Given the description of an element on the screen output the (x, y) to click on. 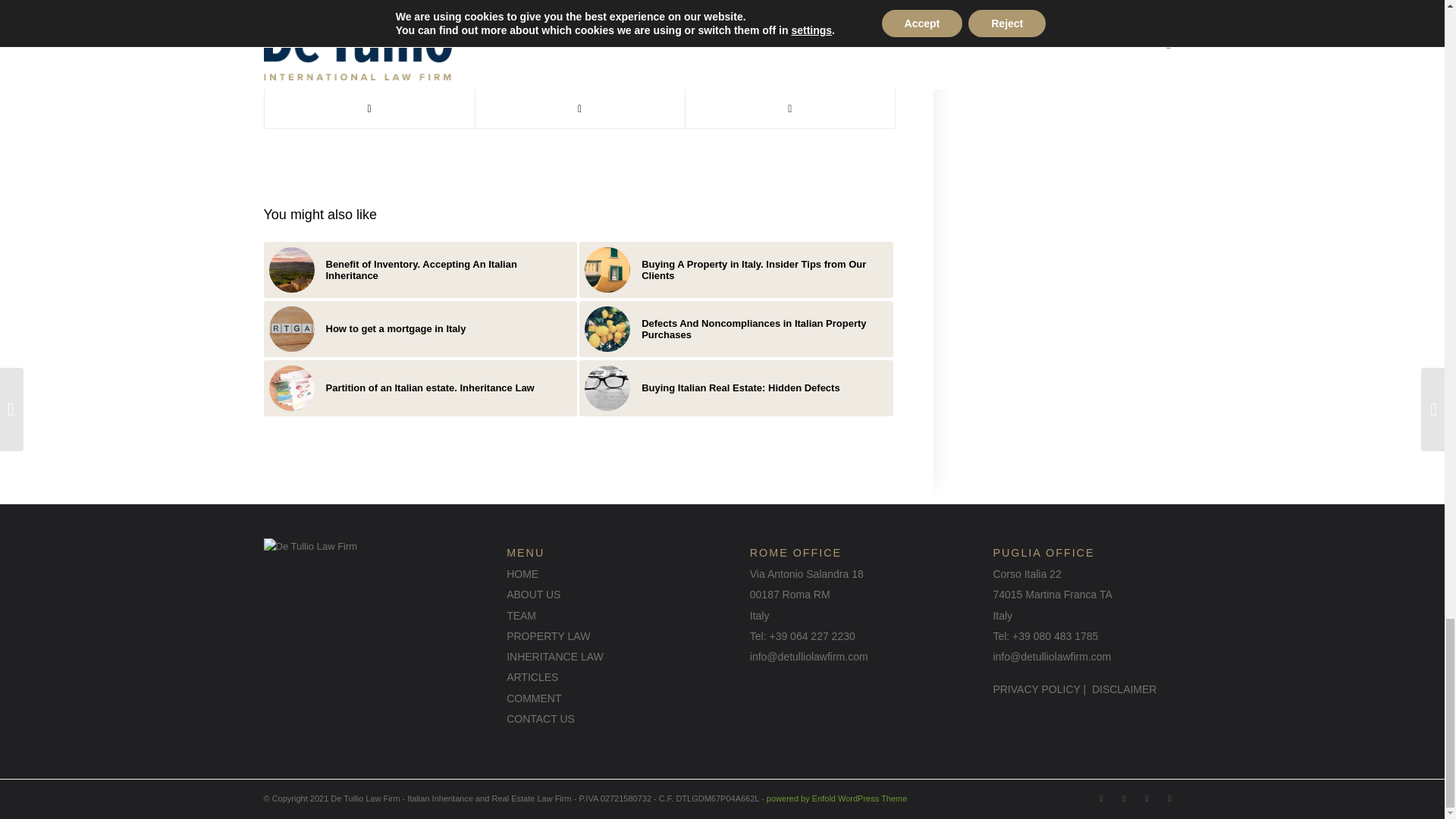
mortgage (290, 329)
Defects And Noncompliances in Italian Property Purchases (736, 329)
Defects And Noncompliances in Italian Property Purchases (736, 329)
Partition of an Italian estate. Inheritance Law (420, 388)
Get in touch. (673, 10)
Benefit of Inventory. Accepting An Italian Inheritance (420, 269)
B903A3FD-5ECC-41B8-9F7A-14379DD0044E (607, 329)
205CE062-E19F-47D1-8917-9BB5DAF48E28 (290, 269)
HOME (522, 573)
How to get a mortgage in Italy (420, 329)
